Given the description of an element on the screen output the (x, y) to click on. 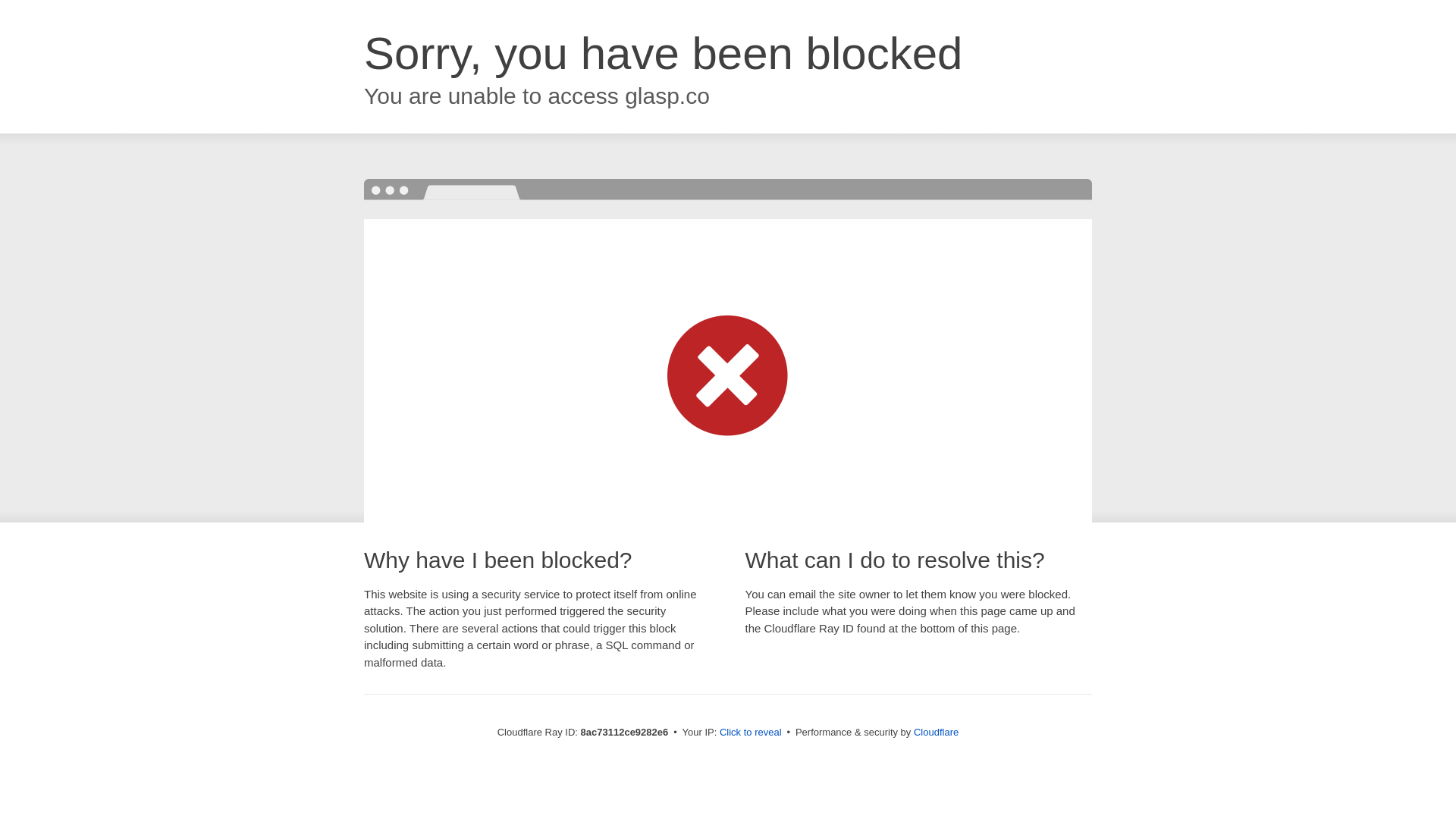
Click to reveal (750, 732)
Cloudflare (936, 731)
